Given the description of an element on the screen output the (x, y) to click on. 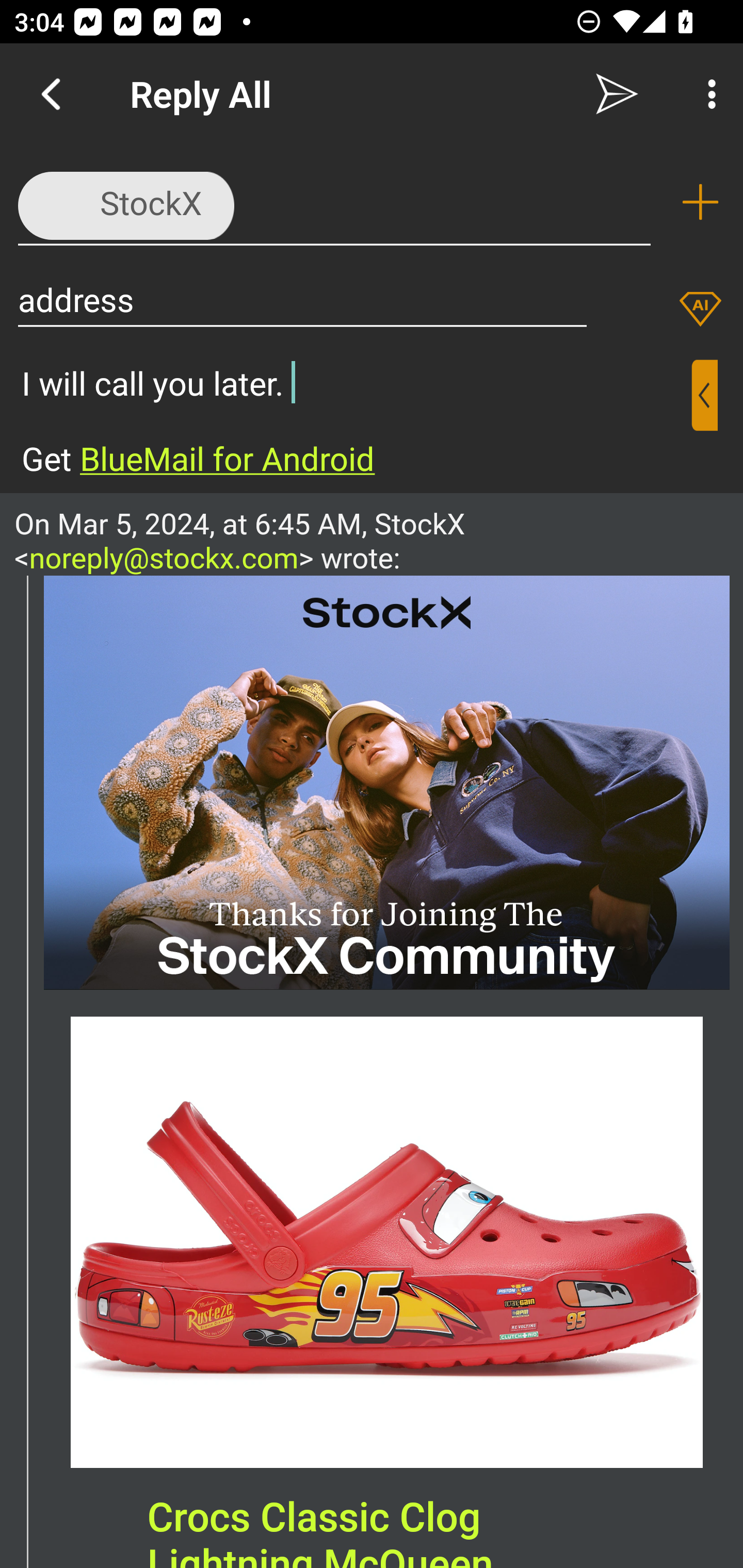
Navigate up (50, 93)
Send (616, 93)
More Options (706, 93)
StockX <noreply@stockx.com>,  (334, 201)
Add recipient (To) (699, 201)
address (302, 299)
noreply@stockx.com (163, 557)
click?upn=u001 (387, 781)
Crocs Classic Clog Lightning McQueen (386, 1241)
